Given the description of an element on the screen output the (x, y) to click on. 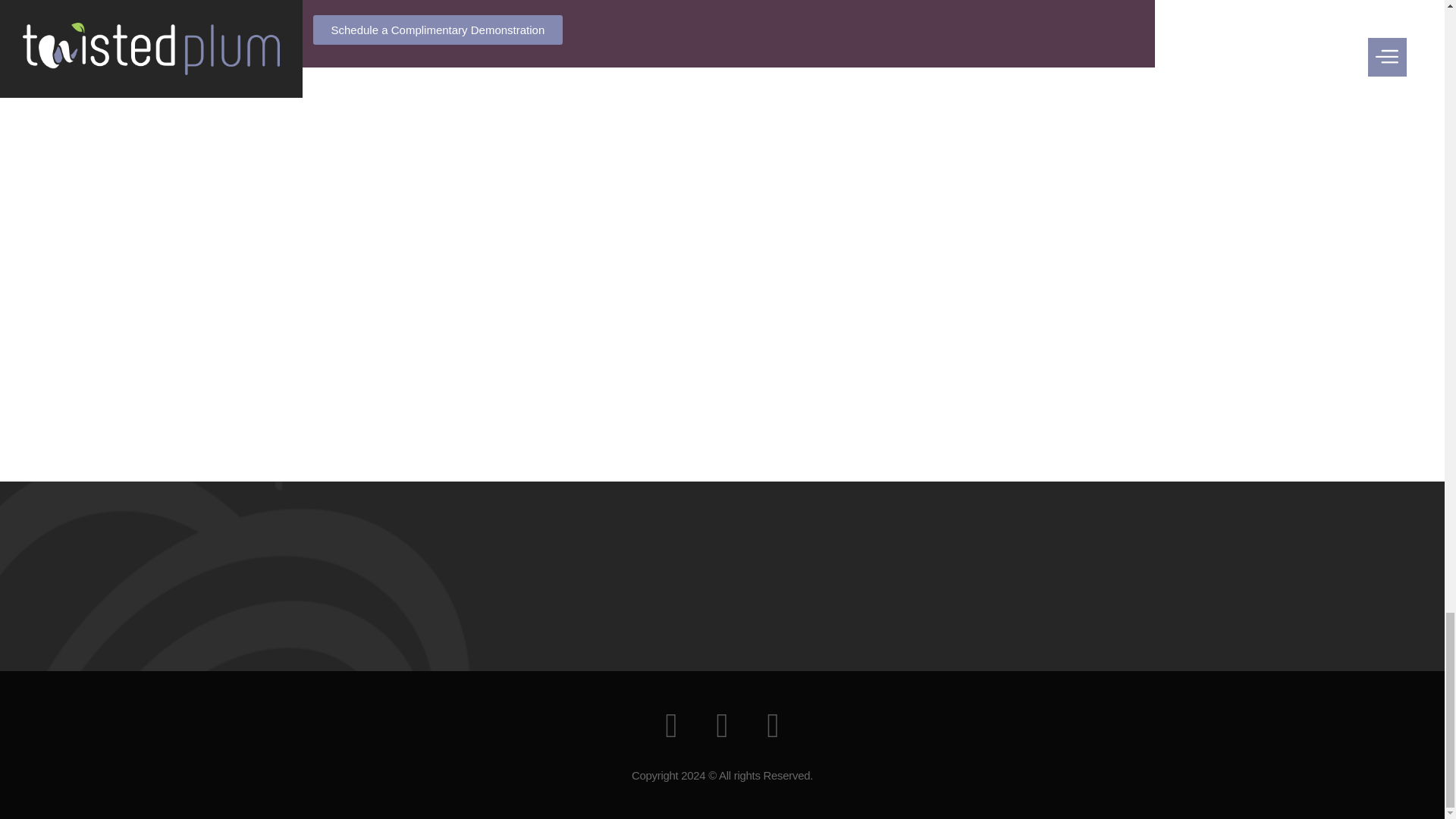
Schedule a Complimentary Demonstration (437, 30)
